Given the description of an element on the screen output the (x, y) to click on. 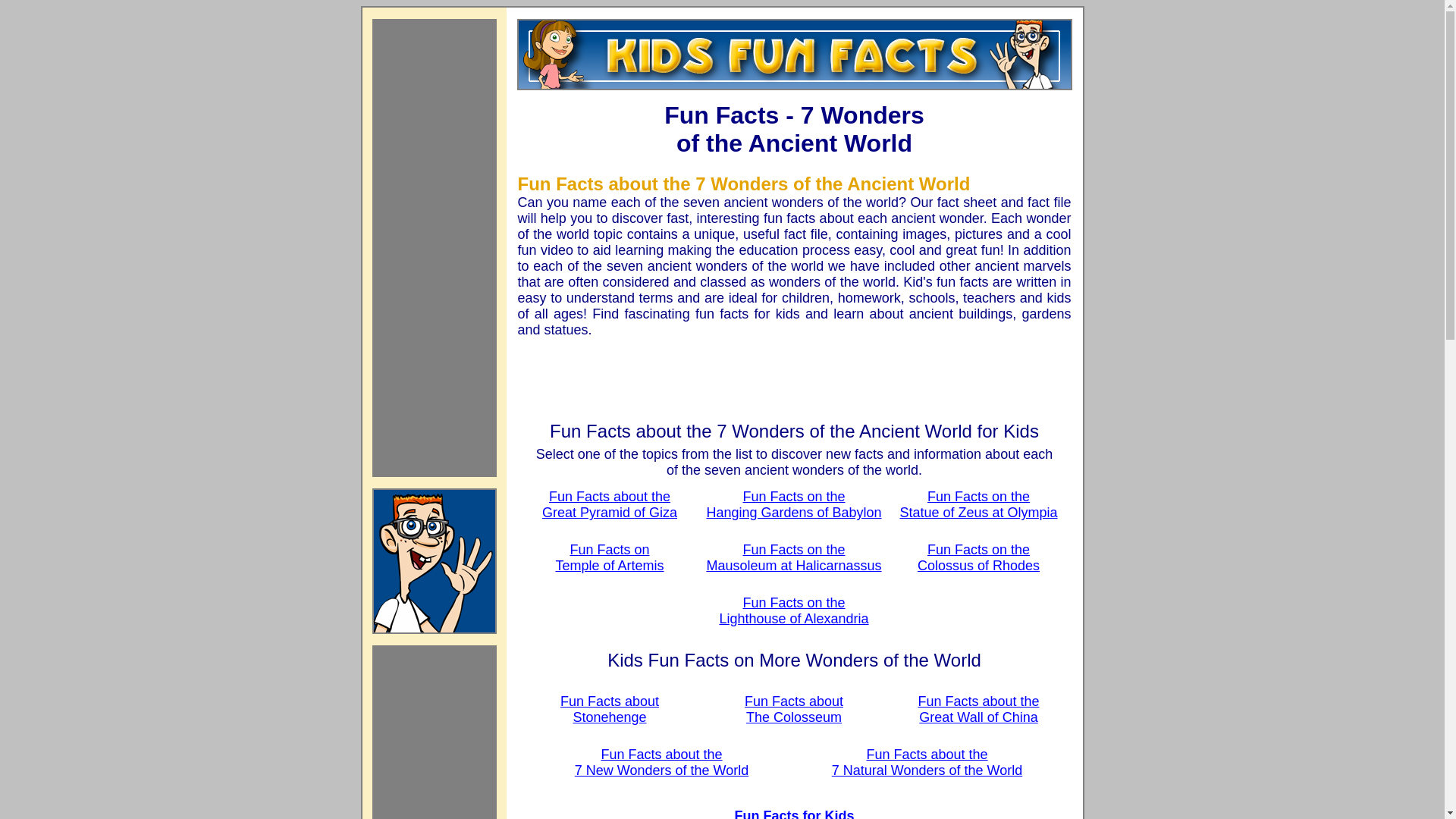
Fun Facts for Kids (608, 557)
